Given the description of an element on the screen output the (x, y) to click on. 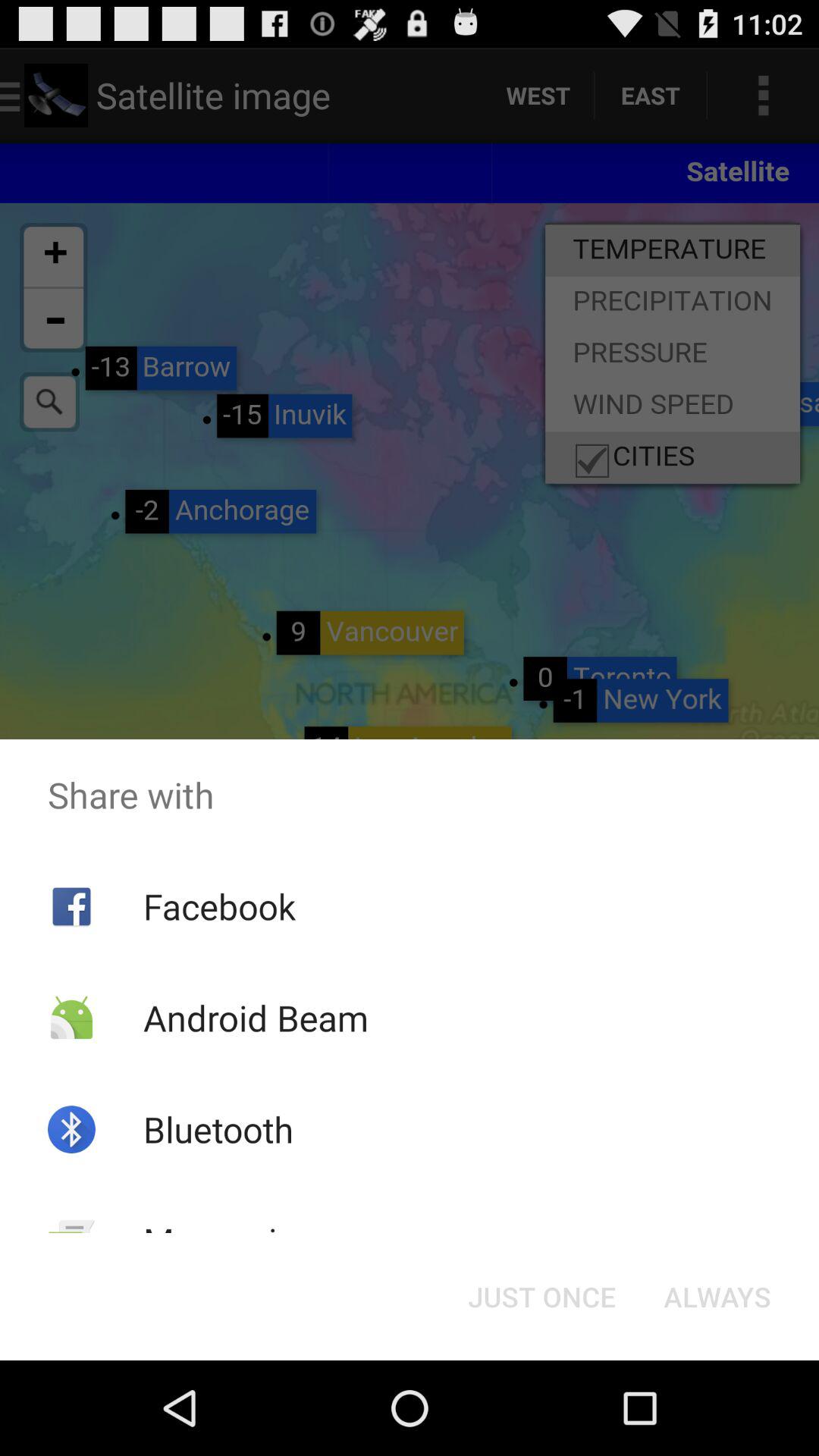
choose the app below the facebook app (255, 1017)
